Given the description of an element on the screen output the (x, y) to click on. 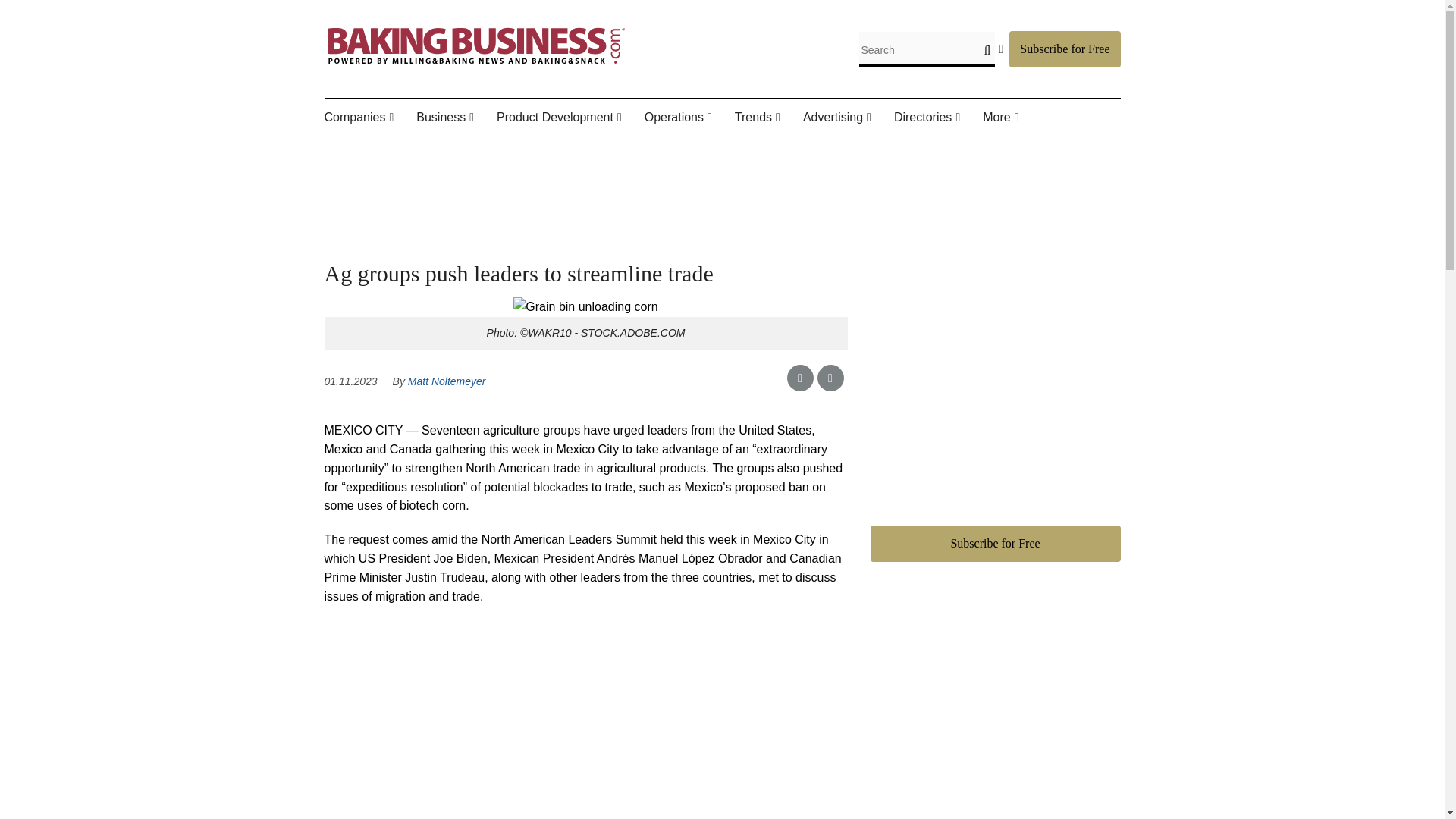
Equipment (720, 153)
Milling (742, 153)
Market Insights (509, 153)
Business (456, 117)
Ingredients and Formulating (571, 163)
Baking Business (475, 64)
People (419, 153)
New Products (583, 153)
Financial Performance (500, 163)
International (515, 153)
